Given the description of an element on the screen output the (x, y) to click on. 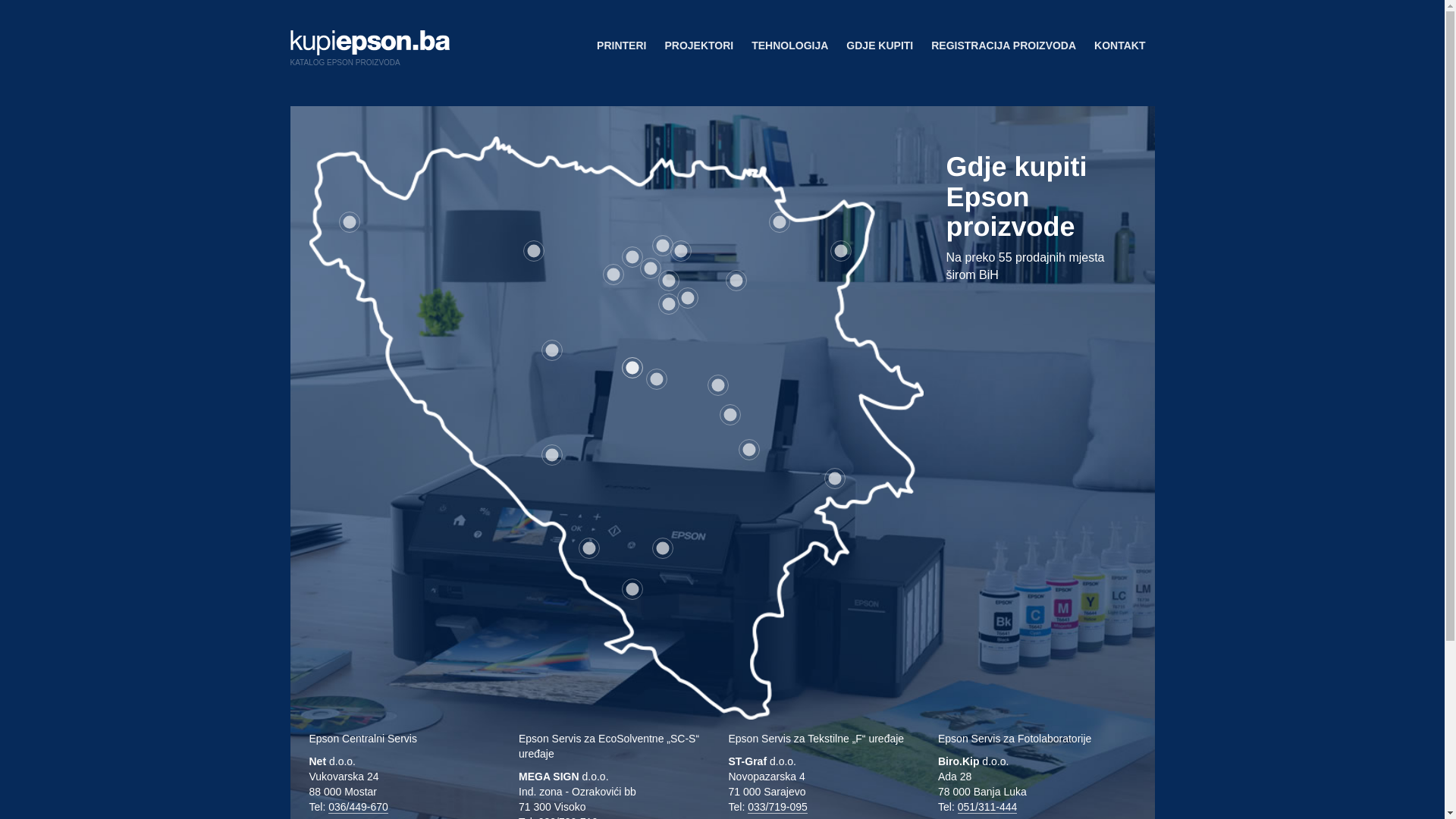
KONTAKT Element type: text (1119, 45)
PROJEKTORI Element type: text (698, 45)
036/449-670 Element type: text (358, 806)
TEHNOLOGIJA Element type: text (789, 45)
033/719-095 Element type: text (777, 806)
KATALOG EPSON PROIZVODA Element type: text (364, 52)
GDJE KUPITI Element type: text (879, 45)
051/311-444 Element type: text (987, 806)
PRINTERI Element type: text (621, 45)
REGISTRACIJA PROIZVODA Element type: text (1003, 45)
